Given the description of an element on the screen output the (x, y) to click on. 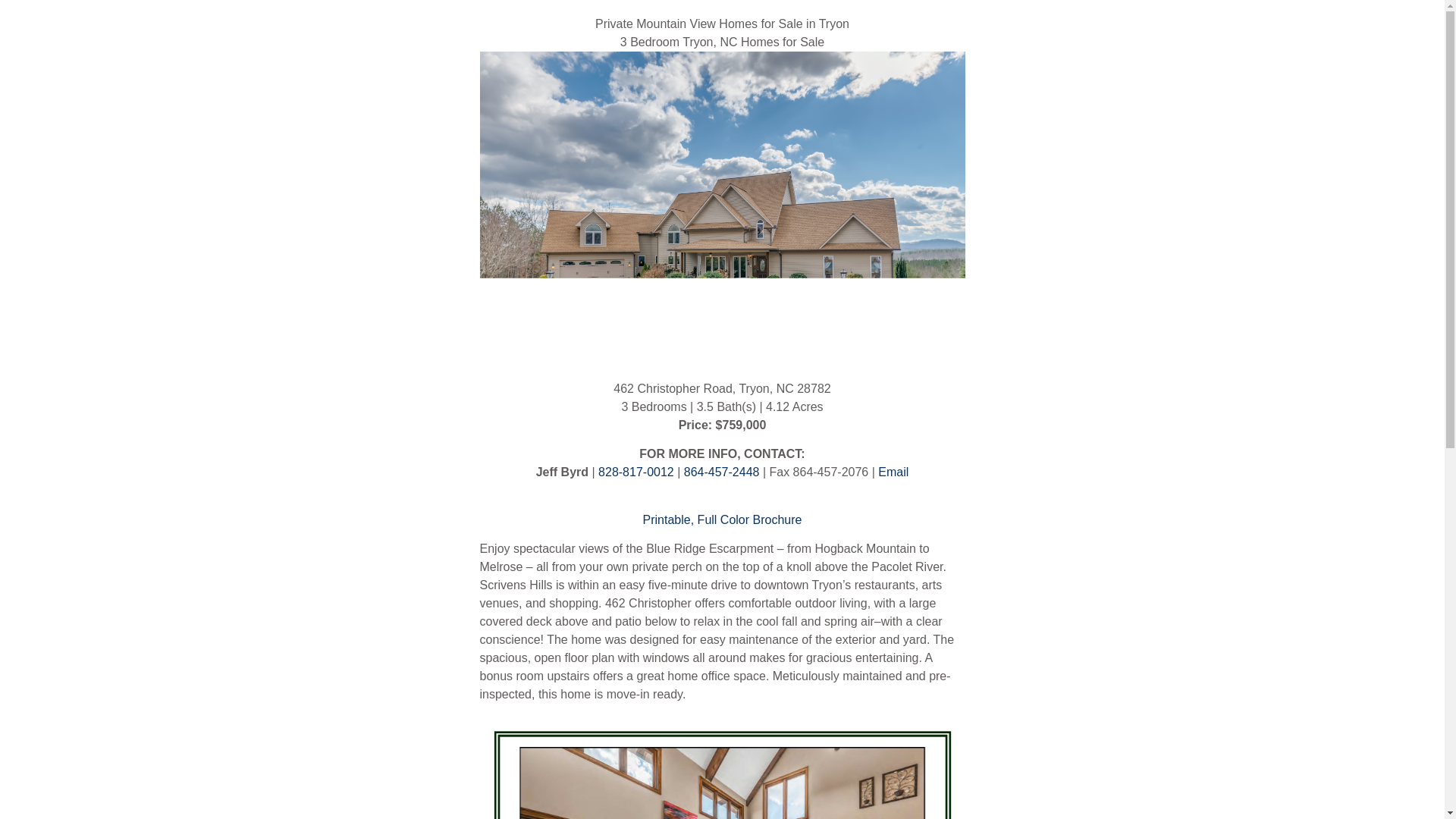
Printable, Full Color Brochure (722, 519)
828-817-0012 (636, 472)
864-457-2448 (723, 472)
Email (892, 472)
